Given the description of an element on the screen output the (x, y) to click on. 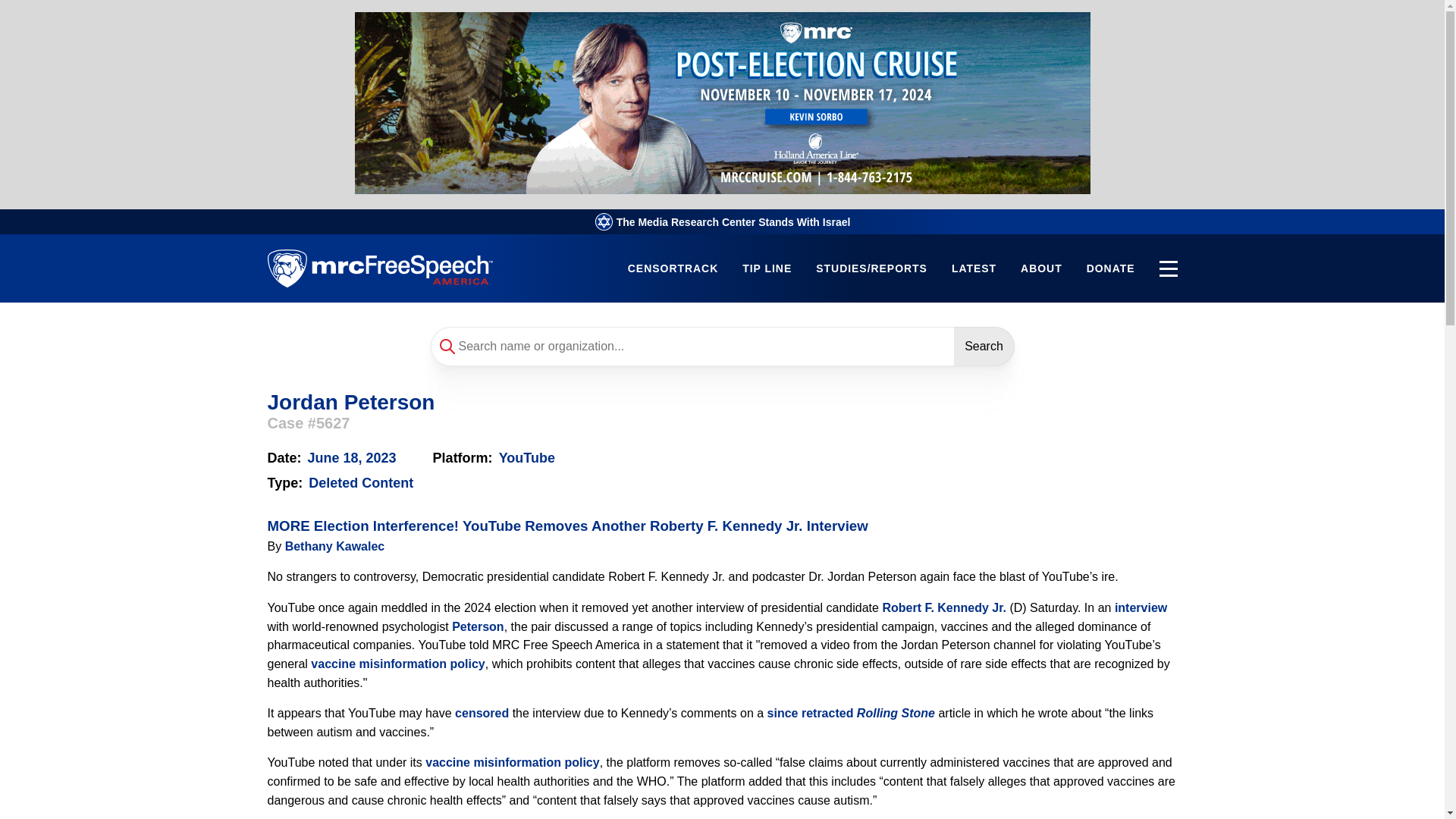
Deleted Content (360, 482)
vaccine misinformation policy (397, 663)
CENSORTRACK (672, 268)
DONATE (1110, 268)
interview (1141, 607)
ABOUT (1041, 268)
LATEST (973, 268)
Peterson (477, 626)
Robert F. Kennedy Jr. (944, 607)
Search (983, 346)
Bethany Kawalec (335, 545)
TIP LINE (767, 268)
YouTube (526, 458)
